Given the description of an element on the screen output the (x, y) to click on. 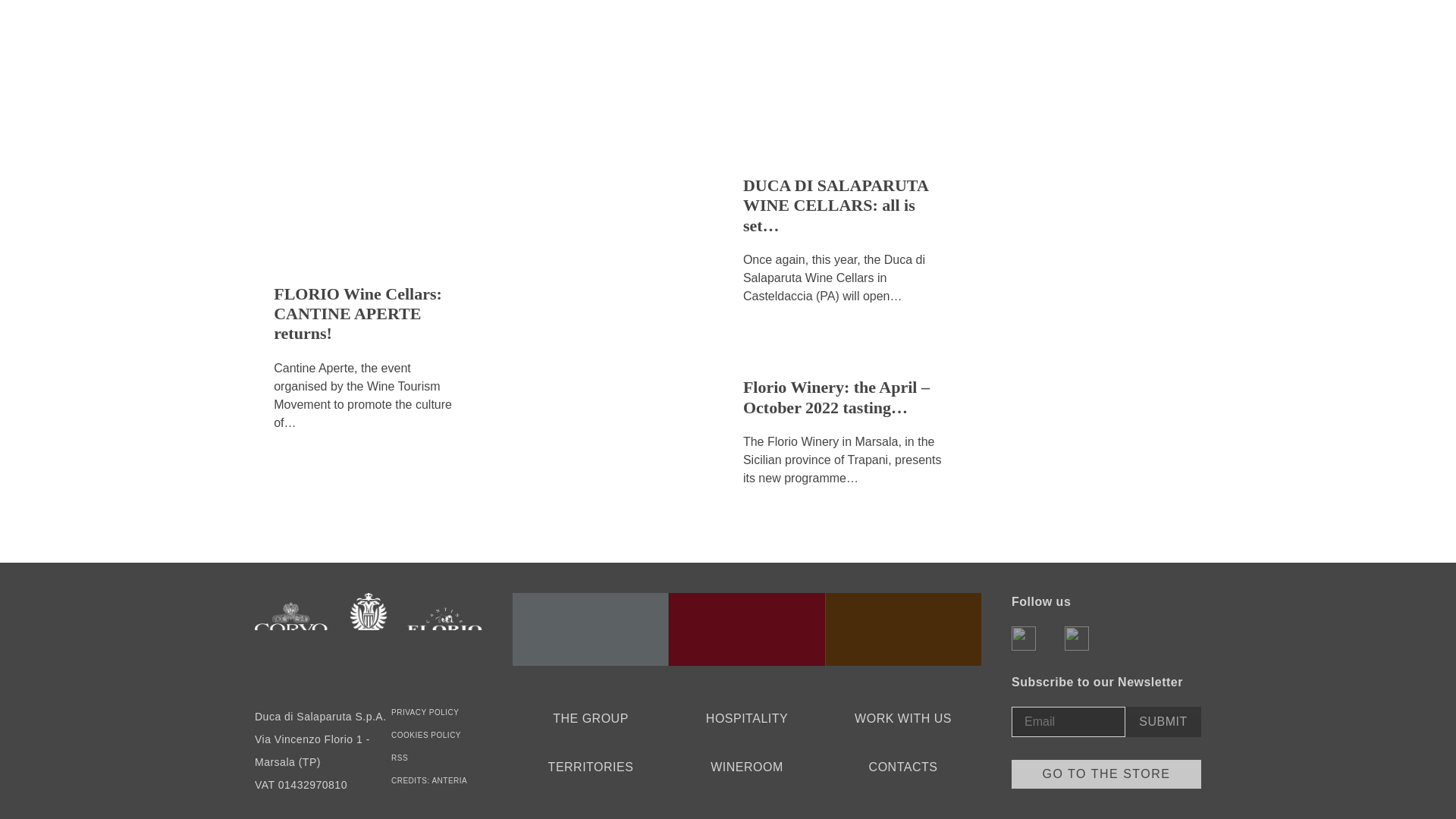
WORK WITH US (903, 719)
RSS (399, 758)
CREDITS: ANTERIA (429, 780)
HOSPITALITY (746, 719)
COOKIES POLICY (426, 735)
TERRITORIES (590, 767)
THE GROUP (590, 719)
PRIVACY POLICY (424, 712)
